Given the description of an element on the screen output the (x, y) to click on. 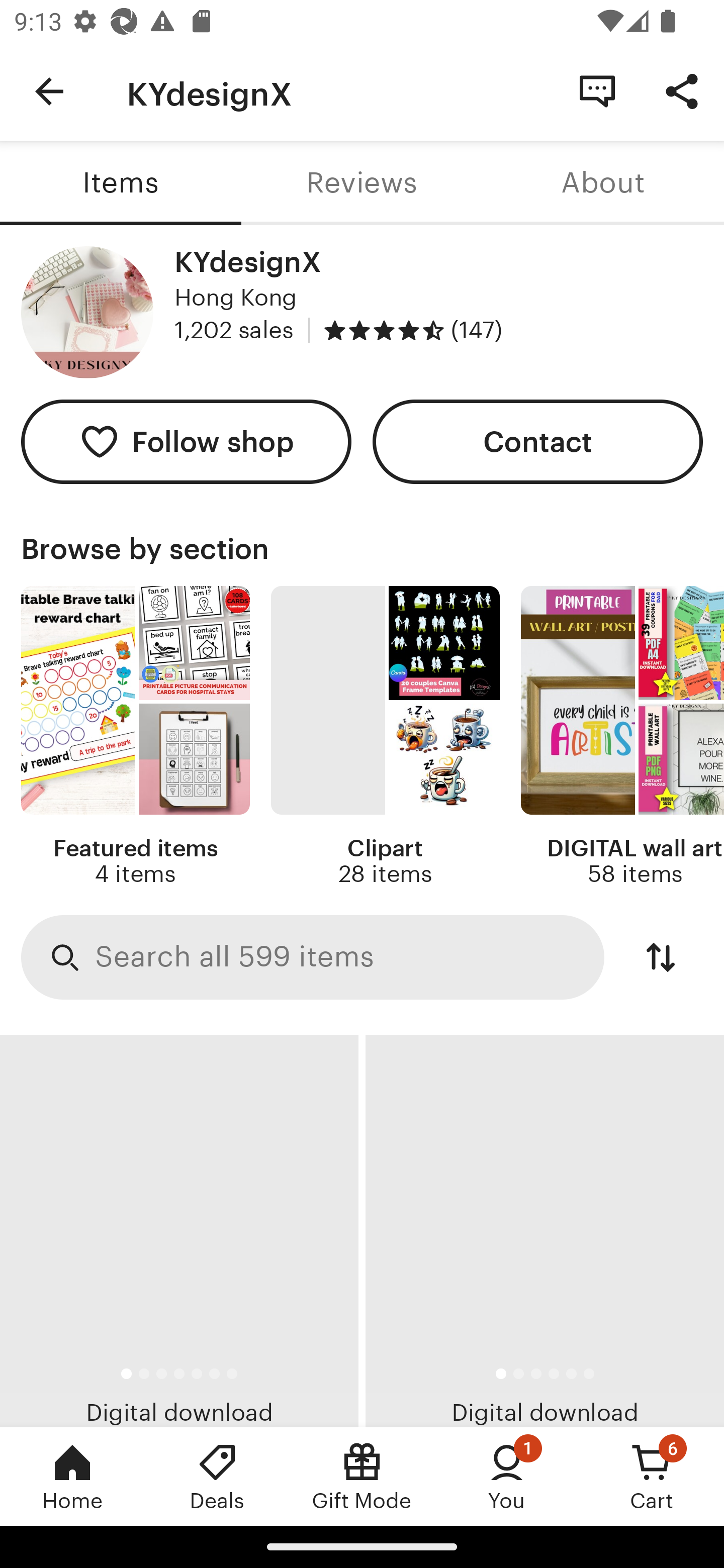
Navigate up (49, 91)
Contact Shop (597, 90)
Share (681, 90)
Reviews (361, 183)
About (603, 183)
Follow shop (185, 441)
Contact (537, 441)
Featured items 4 items (134, 736)
Clipart 28 items (384, 736)
DIGITAL wall art 58 items (622, 736)
Search Search all 599 items (312, 957)
Digital download (179, 1230)
Digital download (544, 1230)
Deals (216, 1475)
Gift Mode (361, 1475)
You, 1 new notification You (506, 1475)
Cart, 6 new notifications Cart (651, 1475)
